Given the description of an element on the screen output the (x, y) to click on. 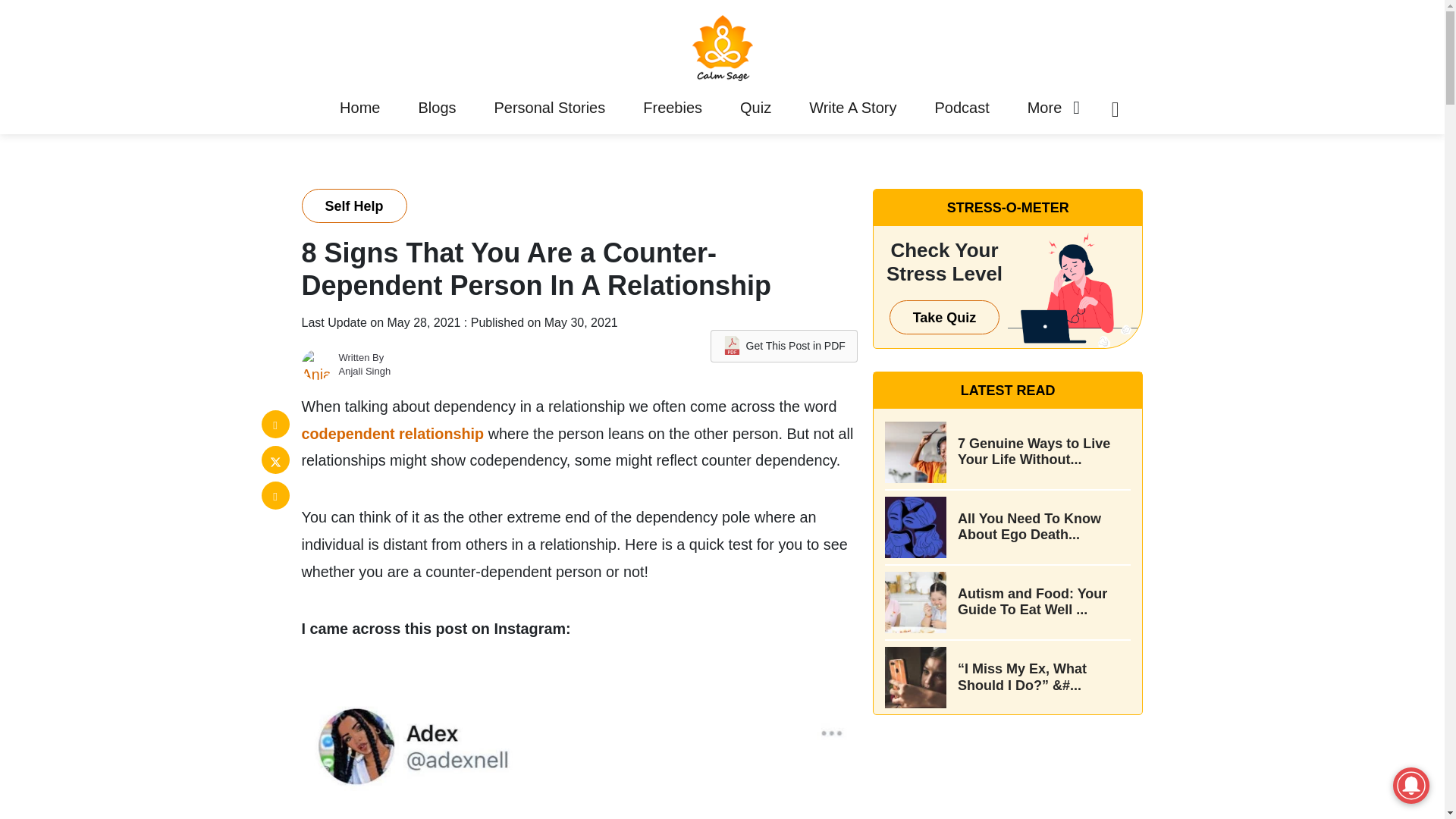
Freebies (672, 107)
Podcast (961, 107)
Blogs (436, 107)
Quiz (756, 107)
Home (360, 107)
Written By (360, 357)
Anjali Singh (363, 370)
Self Help (354, 205)
Write A Story (852, 107)
Get This Post in PDF (783, 346)
More (1045, 107)
codependent relationship (392, 433)
SEARCH (1075, 408)
Personal Stories (548, 107)
